Given the description of an element on the screen output the (x, y) to click on. 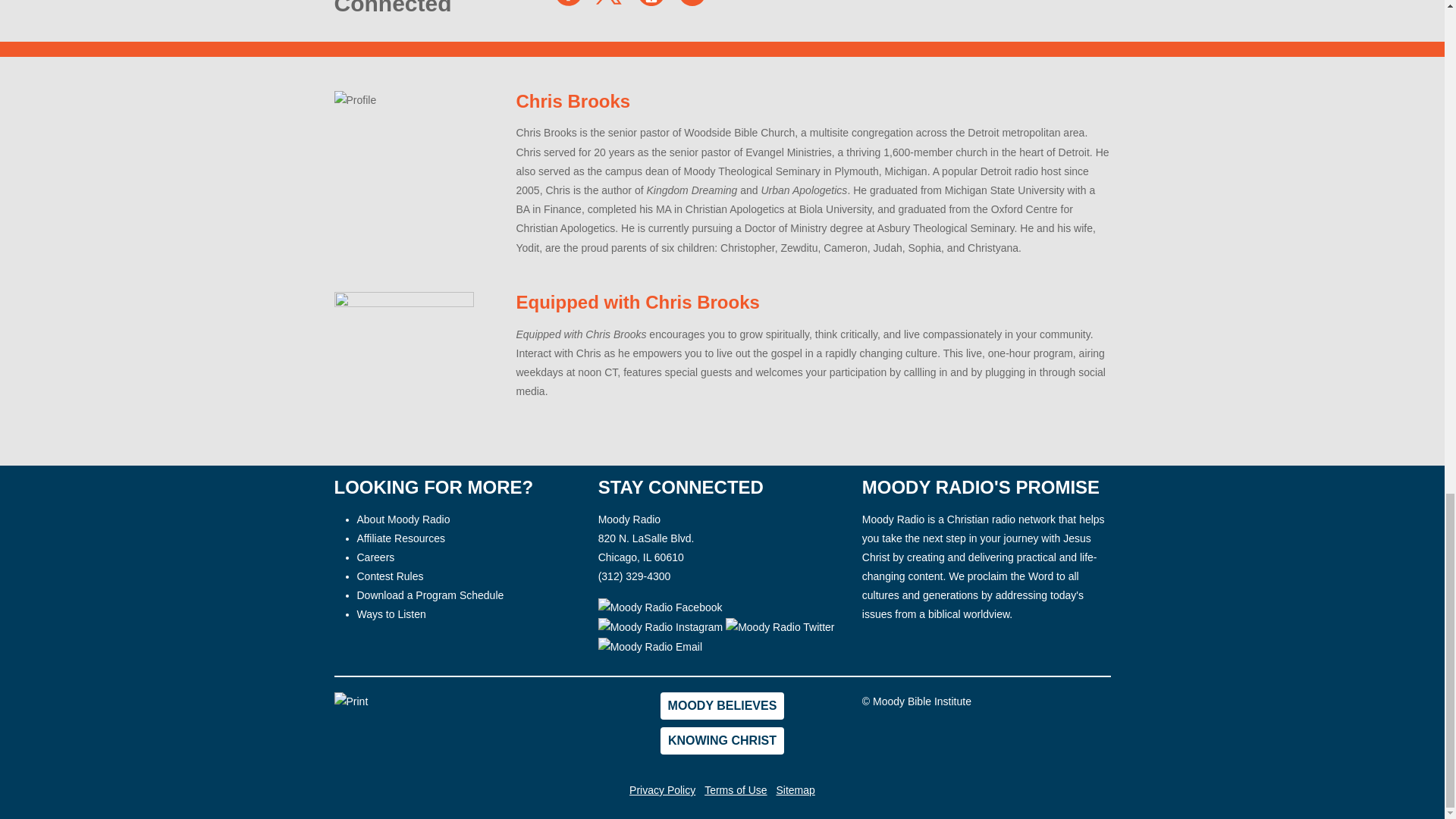
Equipped on Facebook (568, 2)
Moody Radio App (651, 2)
